Given the description of an element on the screen output the (x, y) to click on. 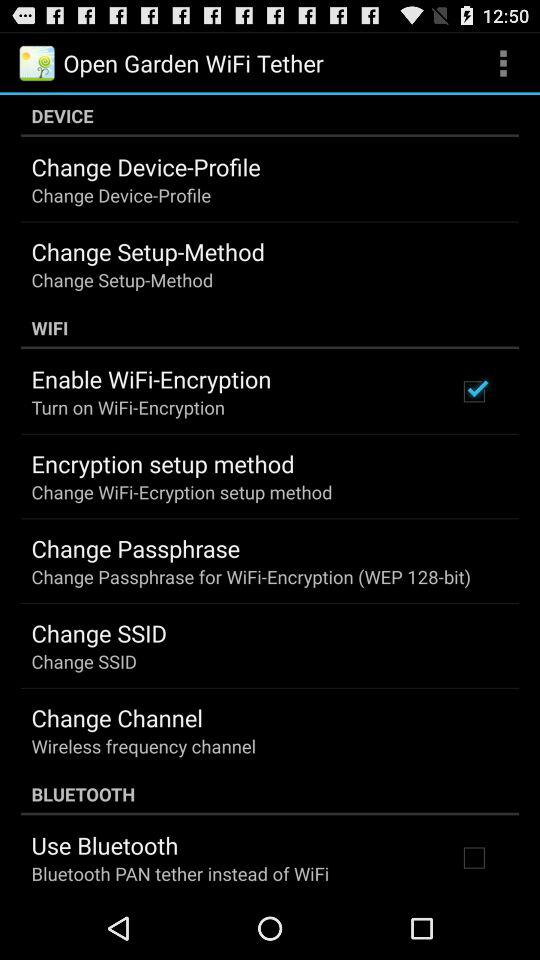
tap wireless frequency channel icon (143, 745)
